Given the description of an element on the screen output the (x, y) to click on. 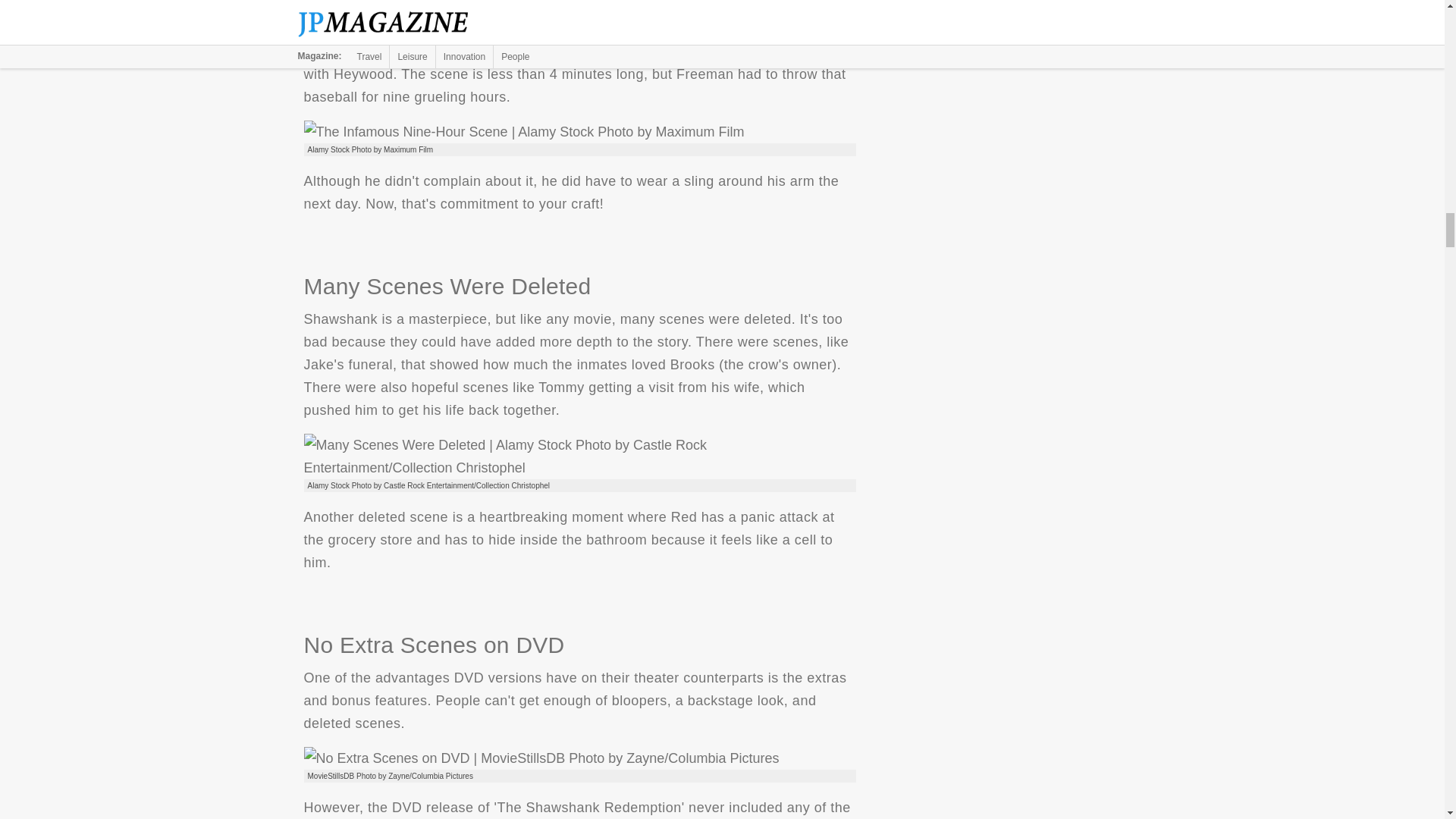
The Infamous Nine-Hour Scene (523, 131)
No Extra Scenes on DVD (540, 757)
Many Scenes Were Deleted (579, 456)
